Given the description of an element on the screen output the (x, y) to click on. 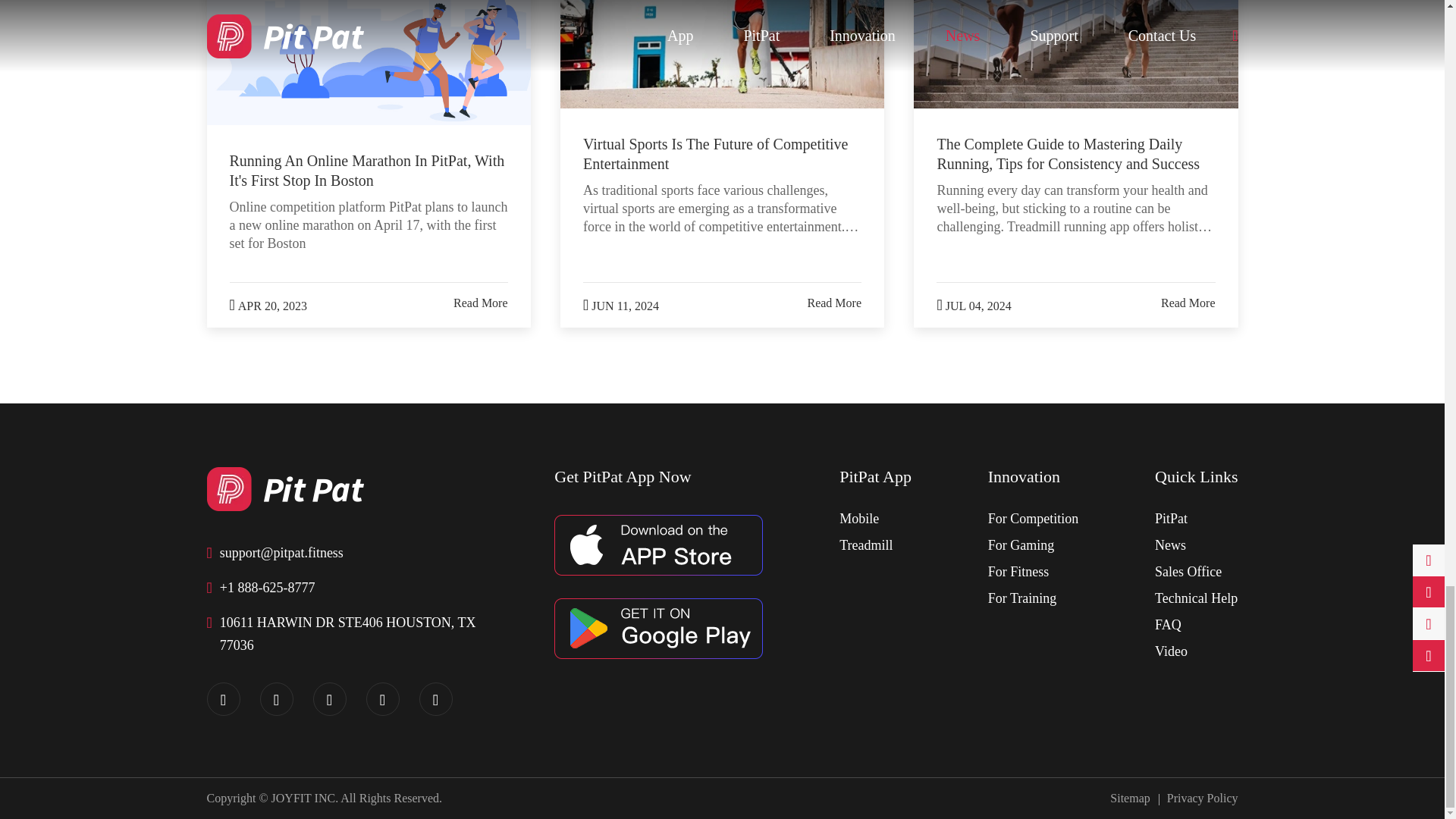
JOYFIT INC. (284, 488)
app store (658, 545)
google play (658, 628)
Virtual Sports Is The Future of Competitive Entertainment (721, 54)
